Given the description of an element on the screen output the (x, y) to click on. 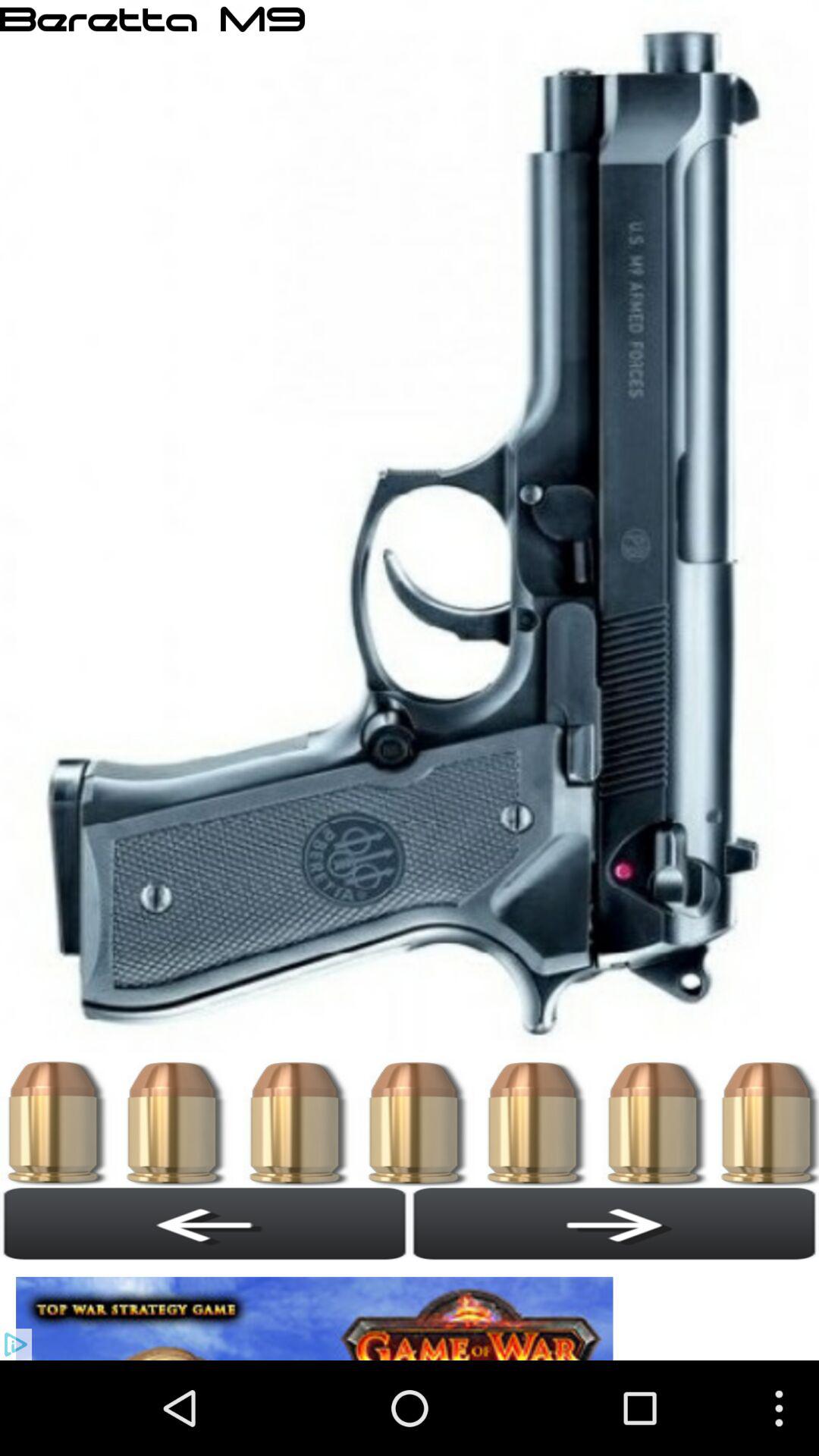
see an image (318, 1310)
